Given the description of an element on the screen output the (x, y) to click on. 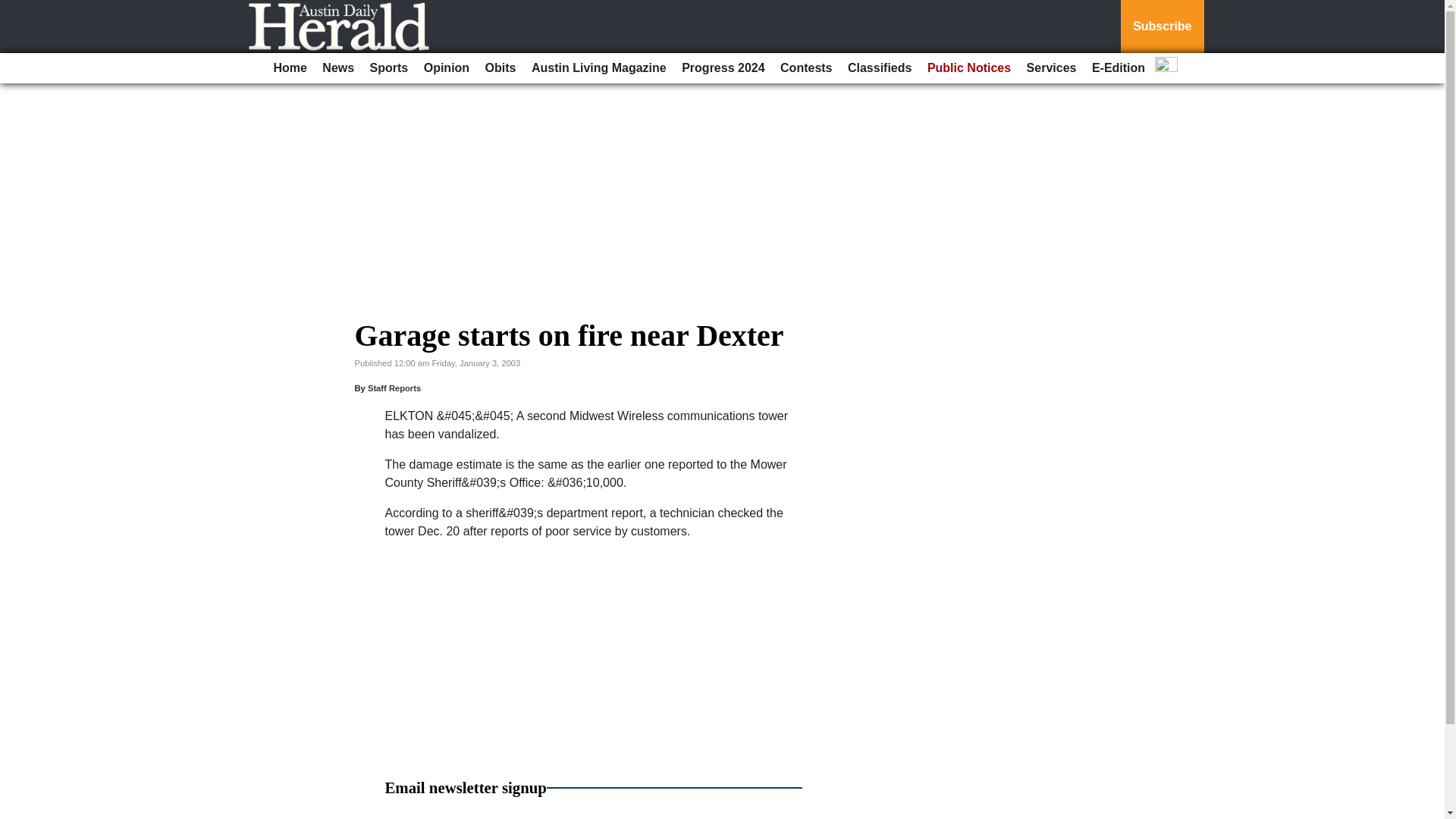
Progress 2024 (722, 68)
Subscribe (1162, 26)
Opinion (446, 68)
Sports (389, 68)
Public Notices (968, 68)
Austin Living Magazine (598, 68)
Home (289, 68)
Classifieds (879, 68)
News (337, 68)
Obits (500, 68)
